Given the description of an element on the screen output the (x, y) to click on. 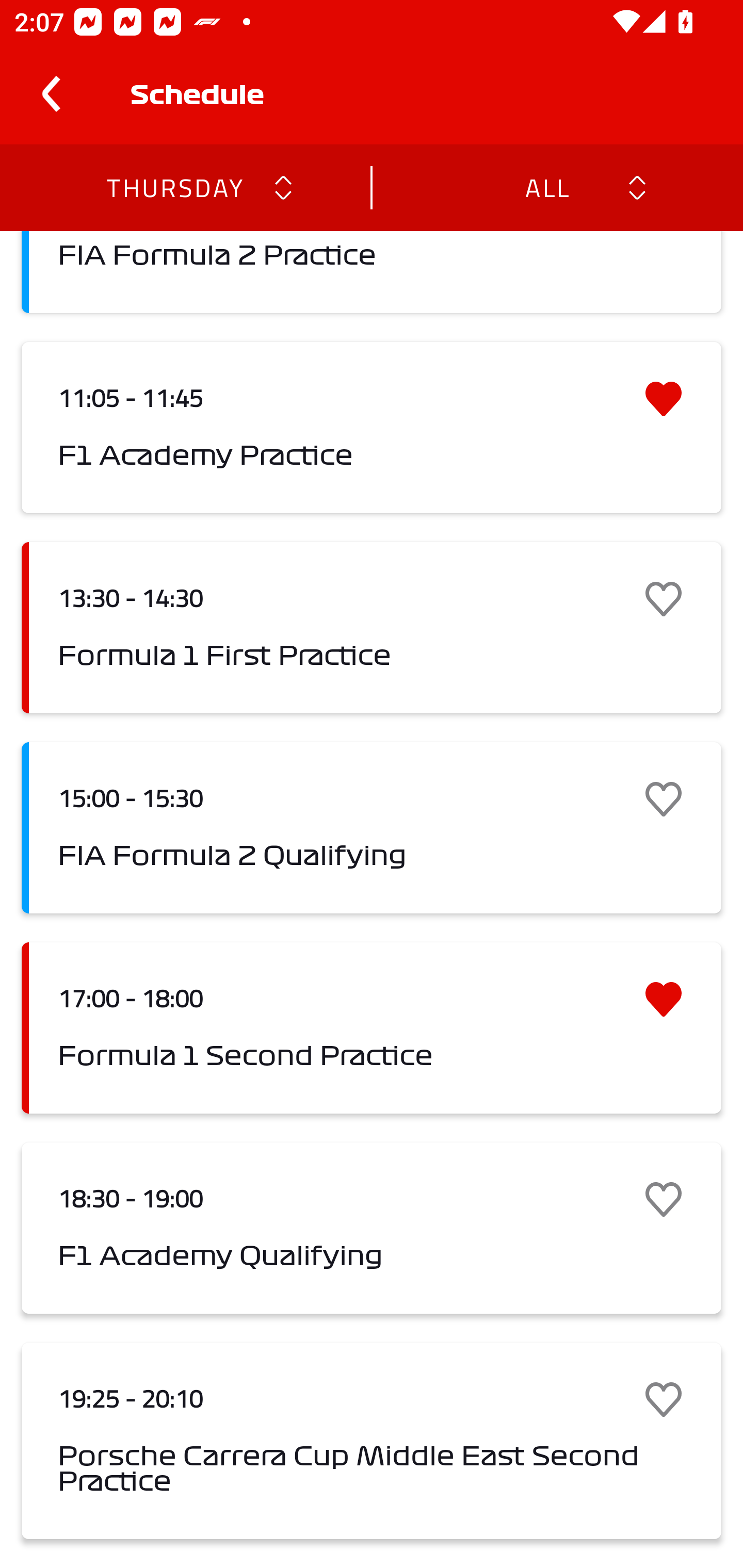
Navigate up (50, 93)
THURSDAY (174, 187)
ALL (546, 187)
FIA Formula 2 Practice (371, 271)
11:05 - 11:45 F1 Academy Practice (371, 426)
13:30 - 14:30 Formula 1 First Practice (371, 627)
15:00 - 15:30 FIA Formula 2 Qualifying (371, 827)
17:00 - 18:00 Formula 1 Second Practice (371, 1027)
18:30 - 19:00 F1 Academy Qualifying (371, 1228)
